Given the description of an element on the screen output the (x, y) to click on. 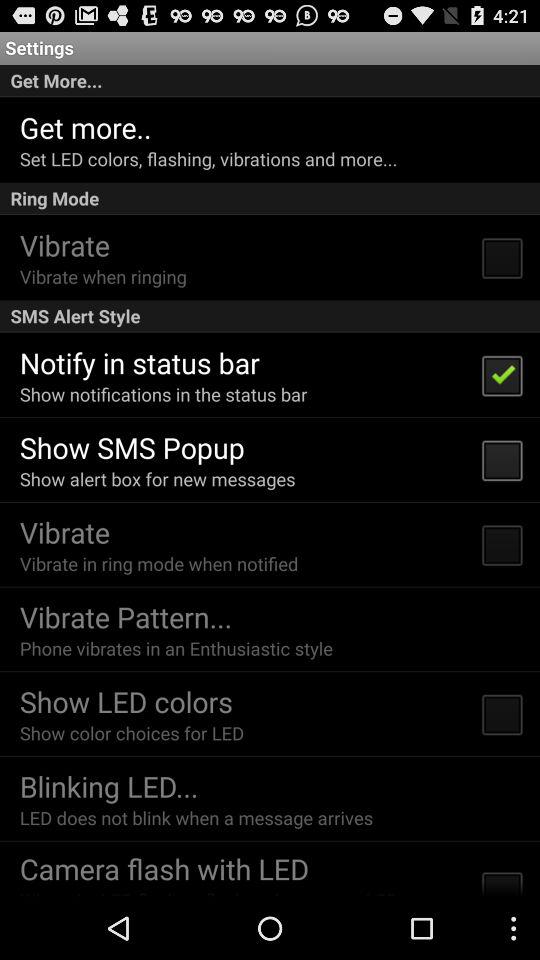
click the icon above the phone vibrates in item (125, 616)
